Given the description of an element on the screen output the (x, y) to click on. 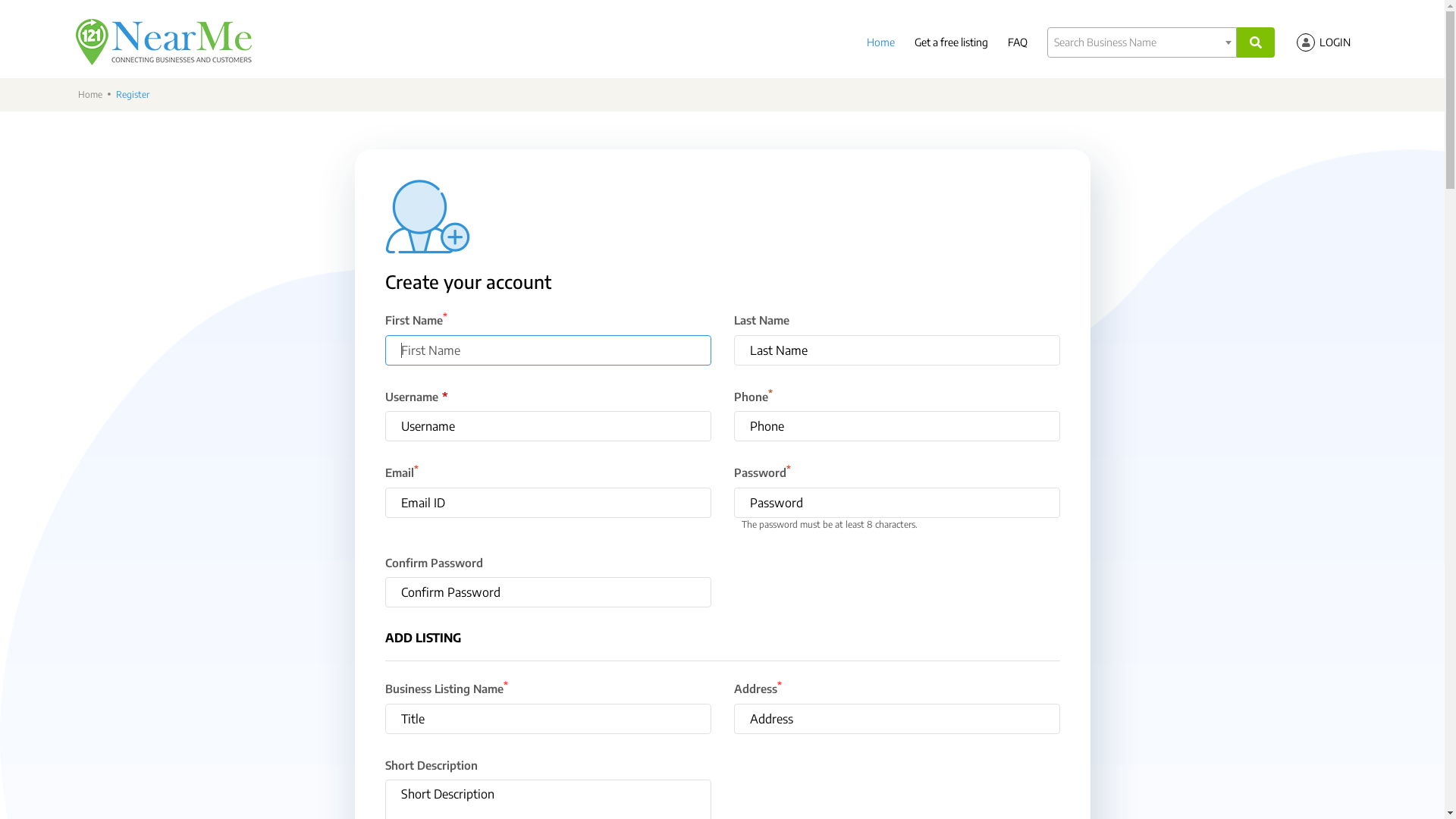
Get a free listing Element type: text (951, 42)
FAQ Element type: text (1017, 42)
Home Element type: text (88, 94)
LOGIN Element type: text (1334, 40)
Home Element type: text (880, 42)
